Given the description of an element on the screen output the (x, y) to click on. 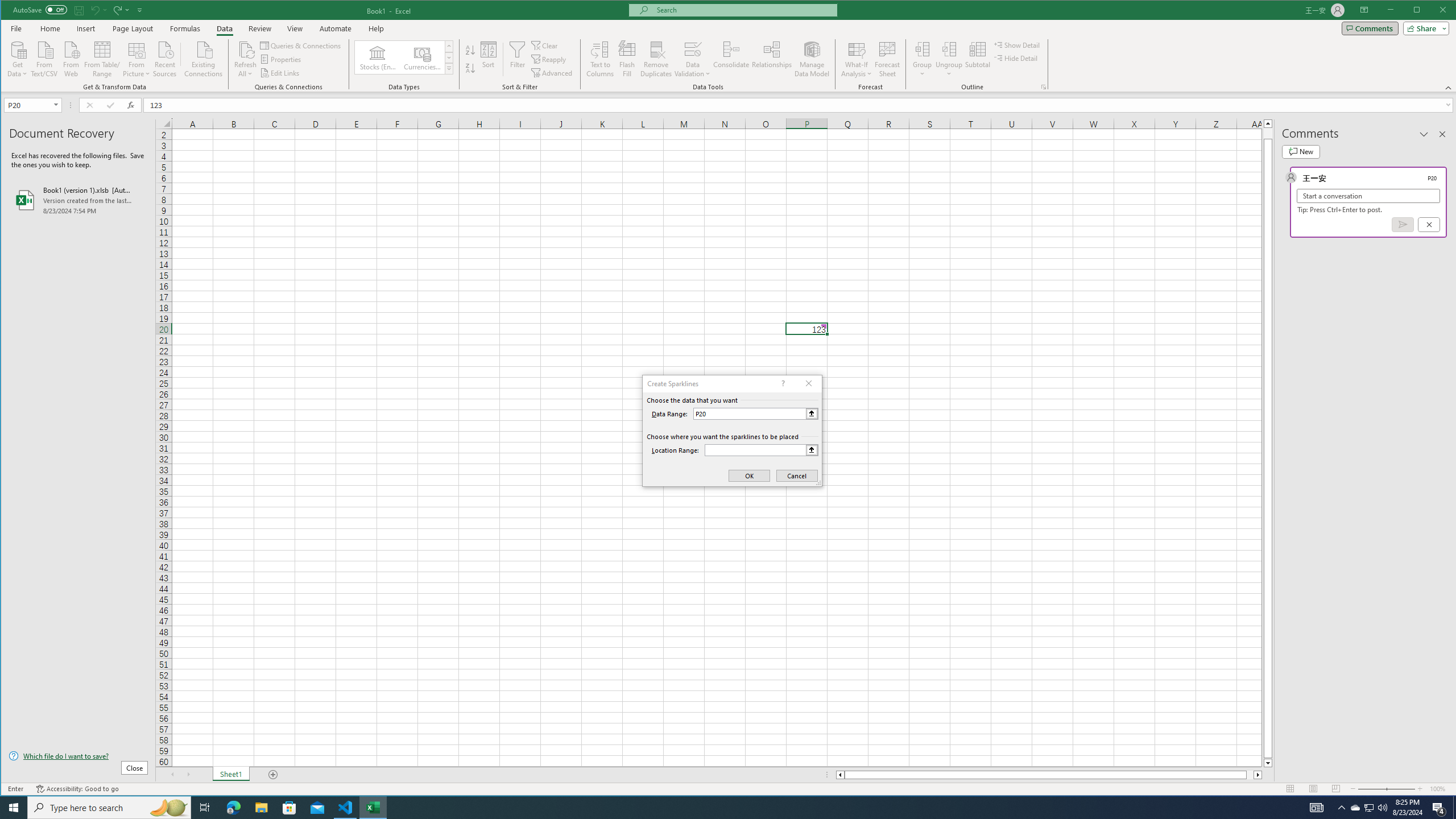
Column right (1258, 774)
Task Pane Options (1423, 133)
Data Validation... (691, 48)
Advanced... (552, 72)
Accessibility Checker Accessibility: Good to go (77, 788)
Data Validation... (691, 59)
Recent Sources (164, 57)
Text to Columns... (600, 59)
Hide Detail (1016, 57)
Page up (1267, 132)
Book1 (version 1).xlsb  [AutoRecovered] (78, 199)
AutomationID: ConvertToLinkedEntity (403, 57)
Automate (336, 28)
Quick Access Toolbar (79, 9)
Class: MsoCommandBar (728, 45)
